Given the description of an element on the screen output the (x, y) to click on. 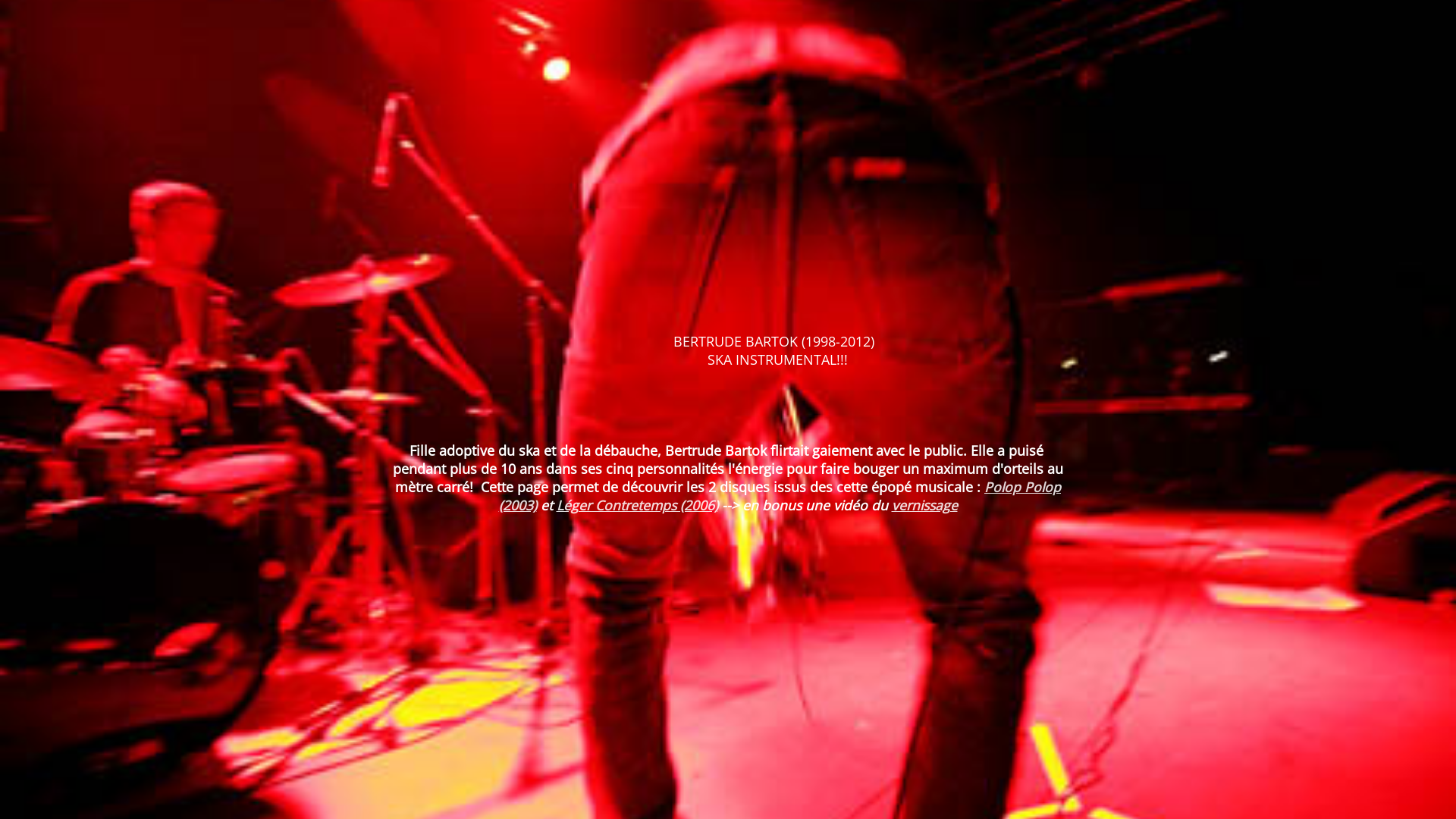
Polop Polop (2003) Element type: text (779, 495)
vernissage Element type: text (924, 504)
